Given the description of an element on the screen output the (x, y) to click on. 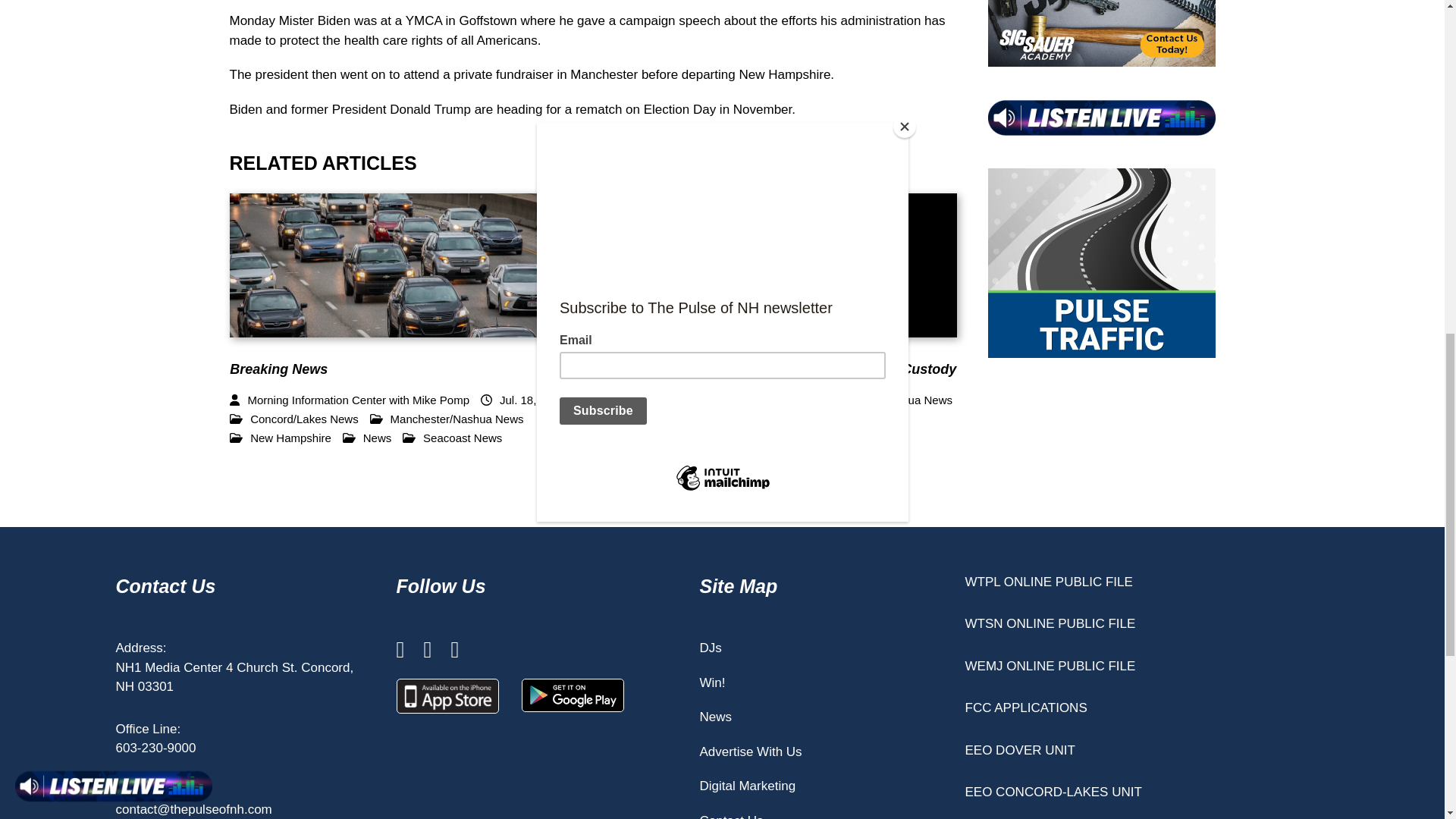
App Store (447, 695)
